Given the description of an element on the screen output the (x, y) to click on. 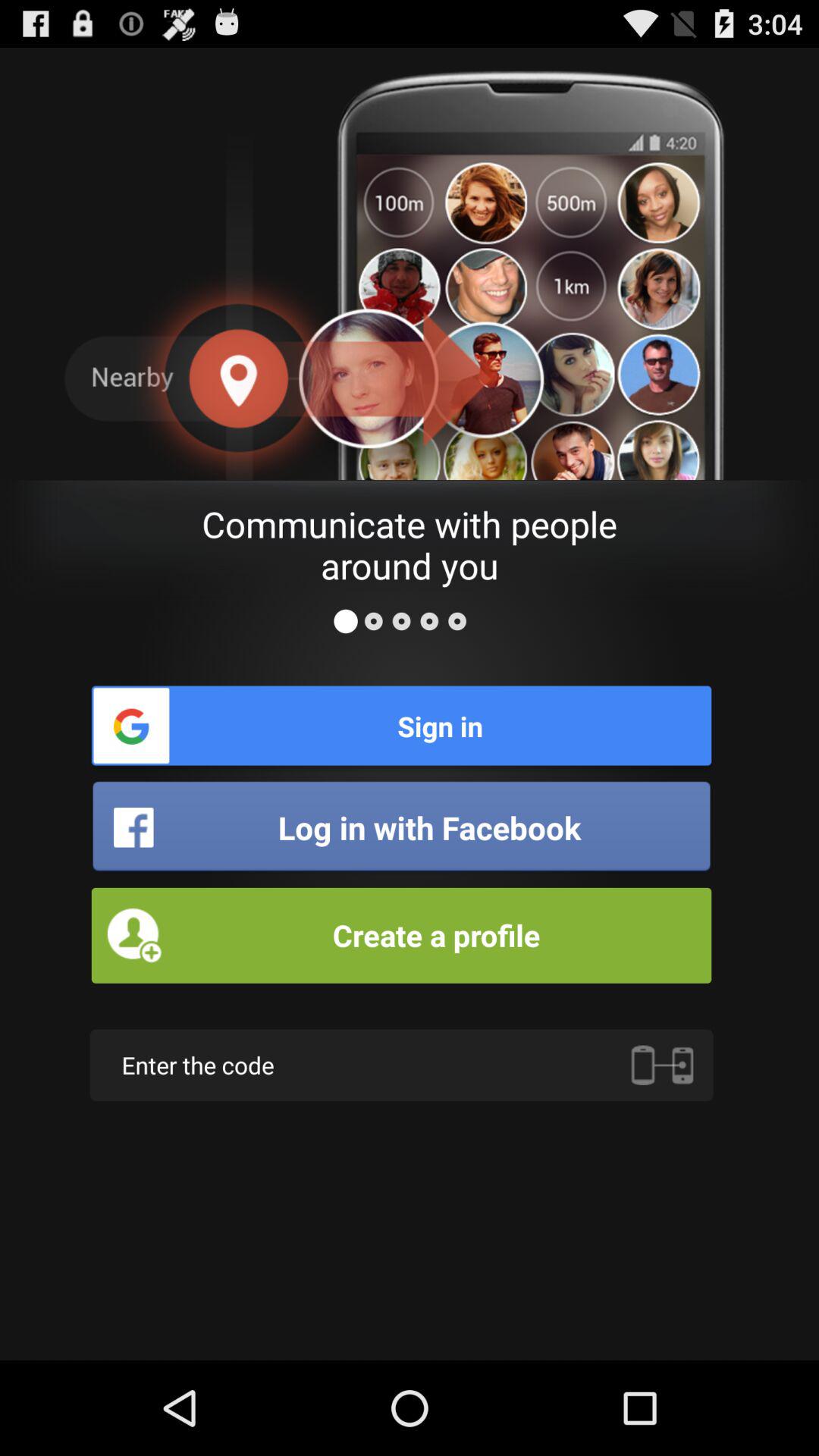
flip until the log in with icon (401, 827)
